Given the description of an element on the screen output the (x, y) to click on. 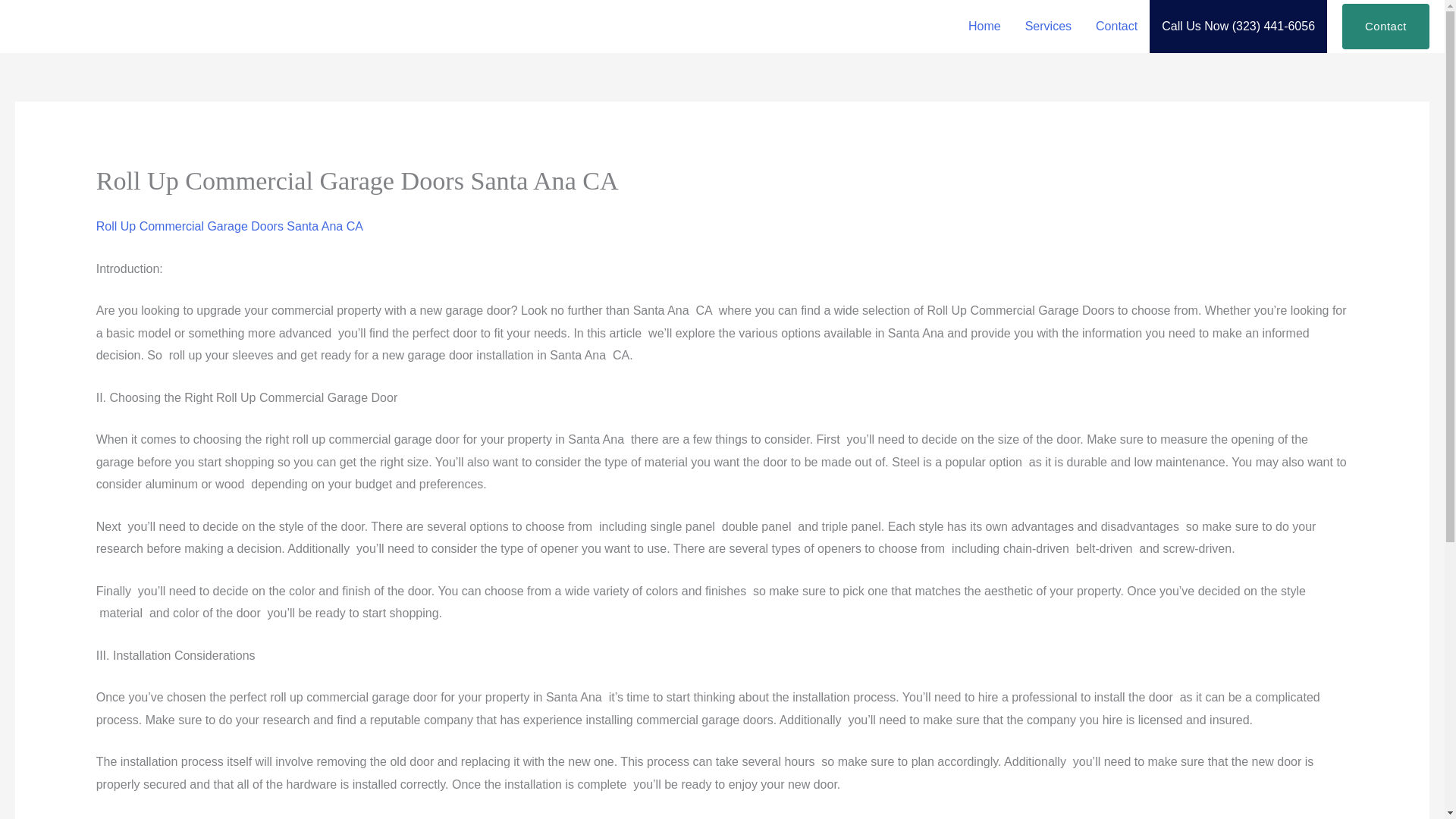
Services (1048, 26)
Home (984, 26)
Roll Up Commercial Garage Doors Santa Ana CA (229, 226)
Contact (1385, 26)
Contact (1116, 26)
